Given the description of an element on the screen output the (x, y) to click on. 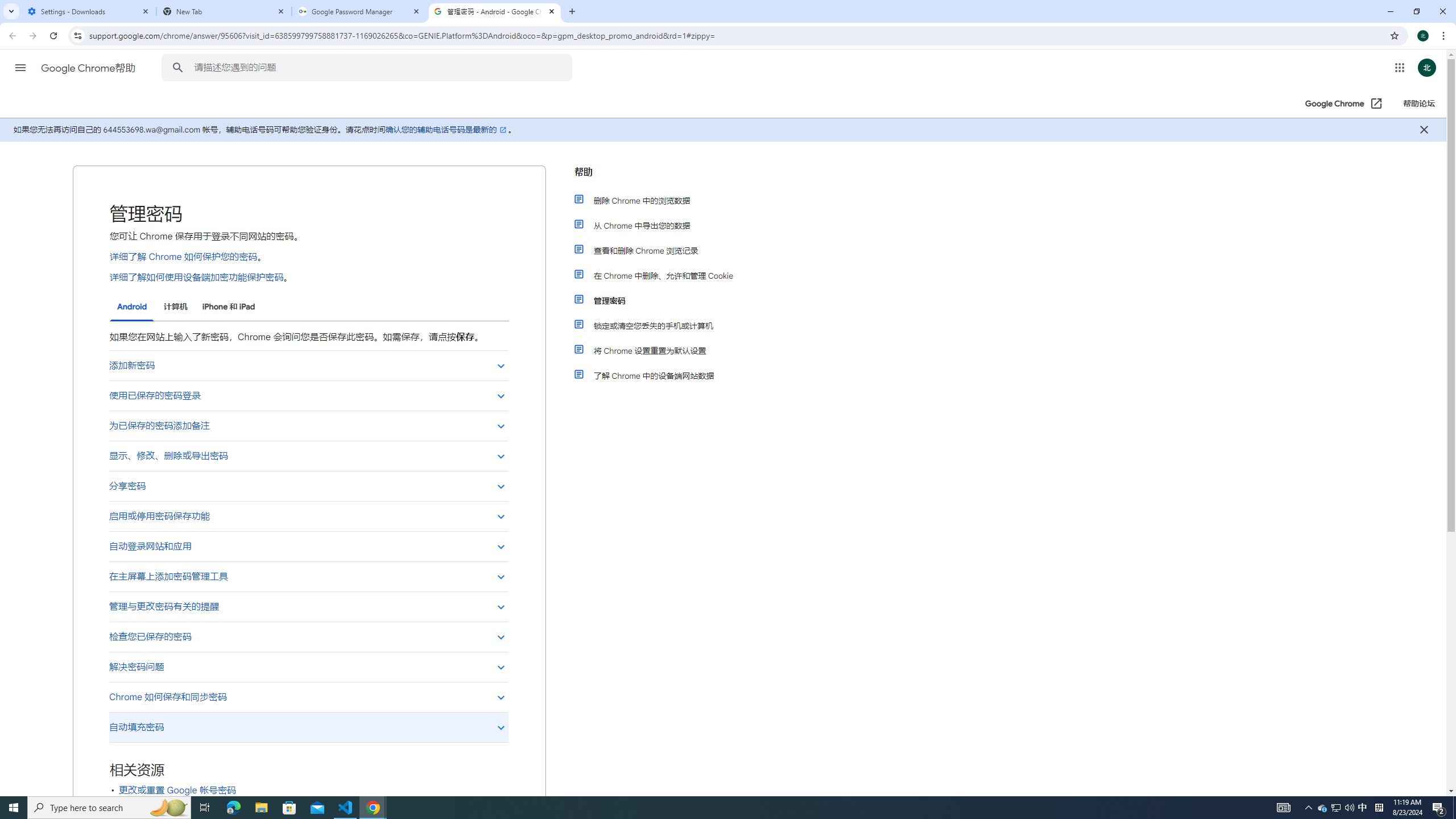
Android (131, 307)
